Given the description of an element on the screen output the (x, y) to click on. 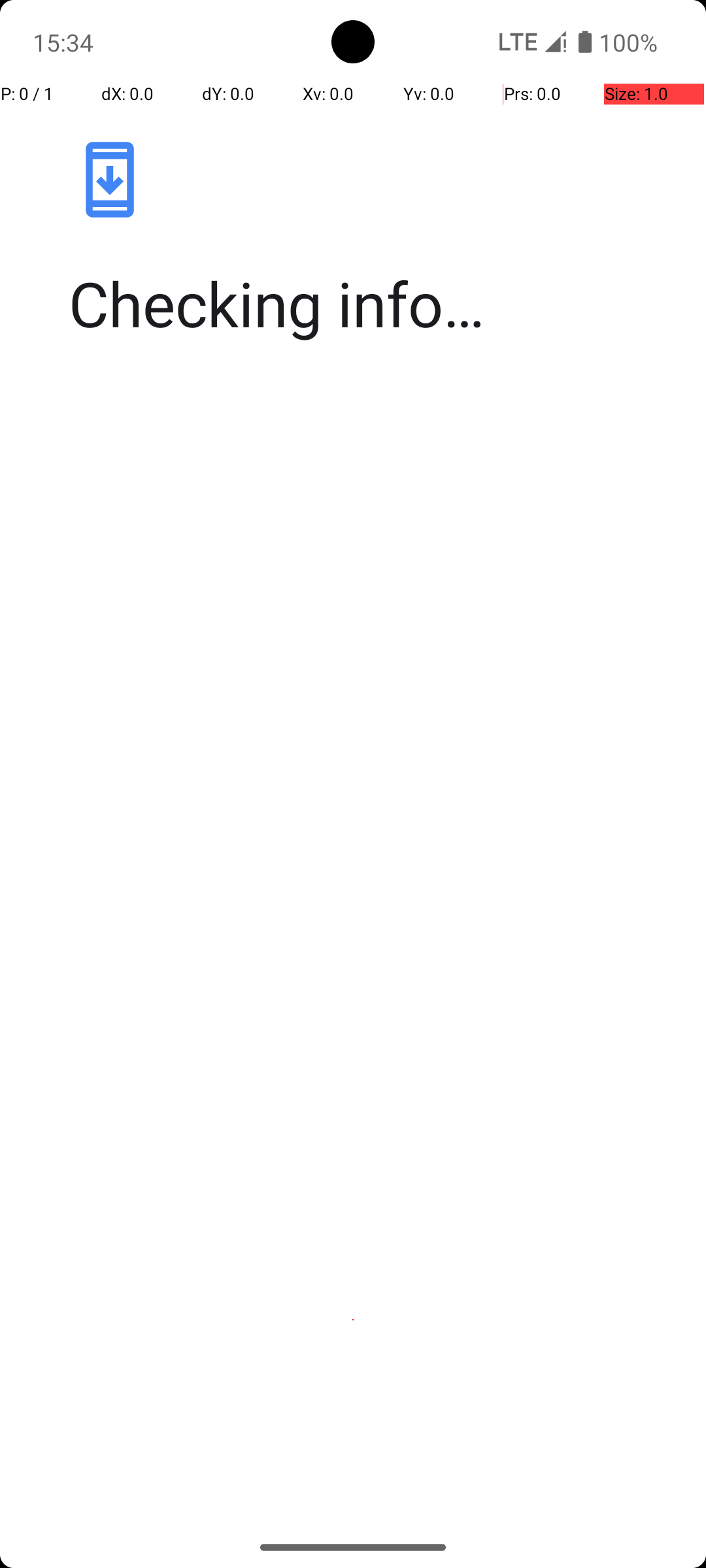
Checking info… Element type: android.widget.TextView (366, 302)
